Given the description of an element on the screen output the (x, y) to click on. 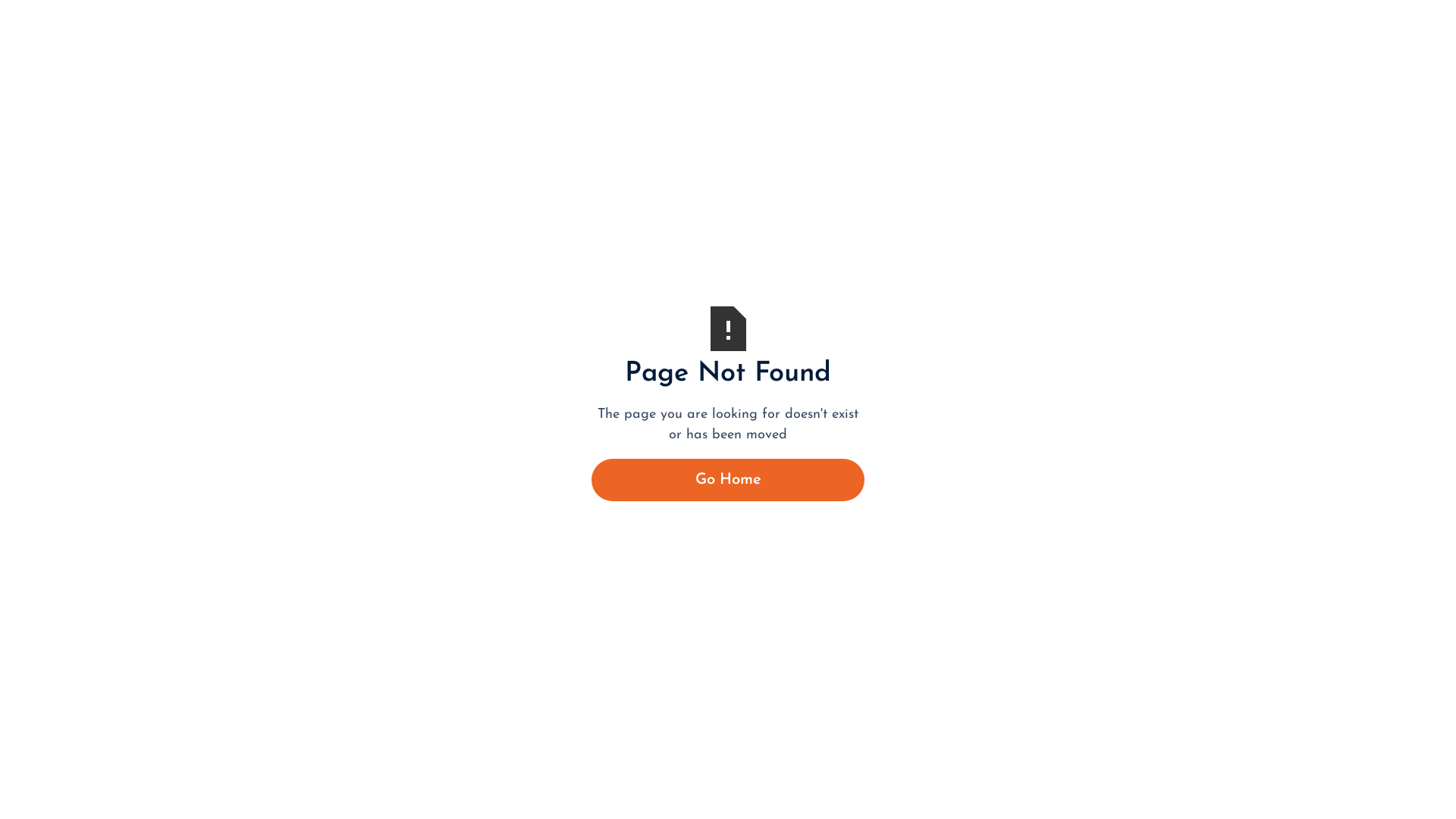
Go Home Element type: text (727, 479)
